Given the description of an element on the screen output the (x, y) to click on. 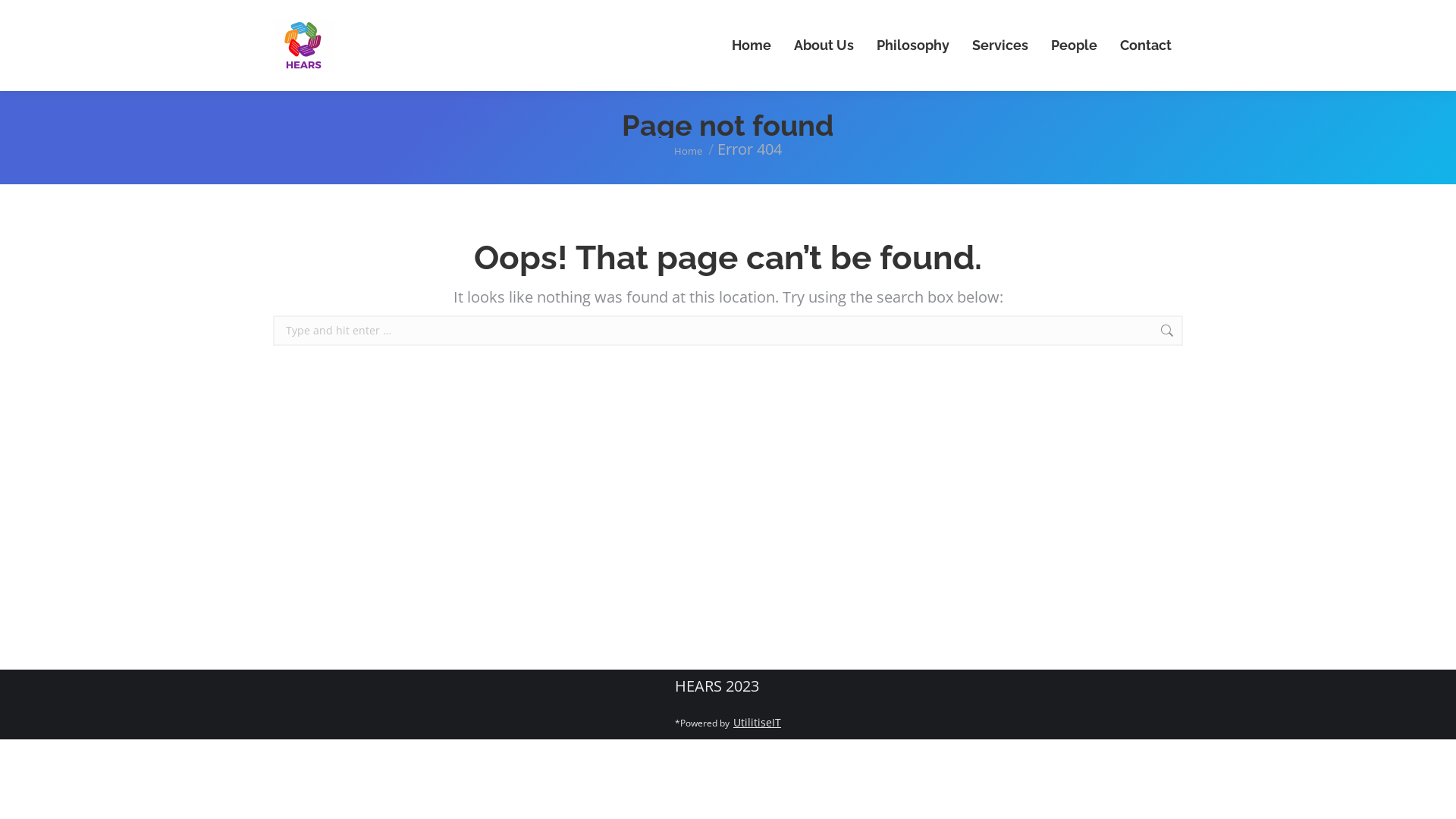
Services Element type: text (999, 45)
Philosophy Element type: text (912, 45)
Go! Element type: text (1206, 331)
Home Element type: text (688, 150)
About Us Element type: text (823, 45)
Home Element type: text (751, 45)
People Element type: text (1073, 45)
Contact Element type: text (1145, 45)
UtilitiseIT Element type: text (757, 722)
